Given the description of an element on the screen output the (x, y) to click on. 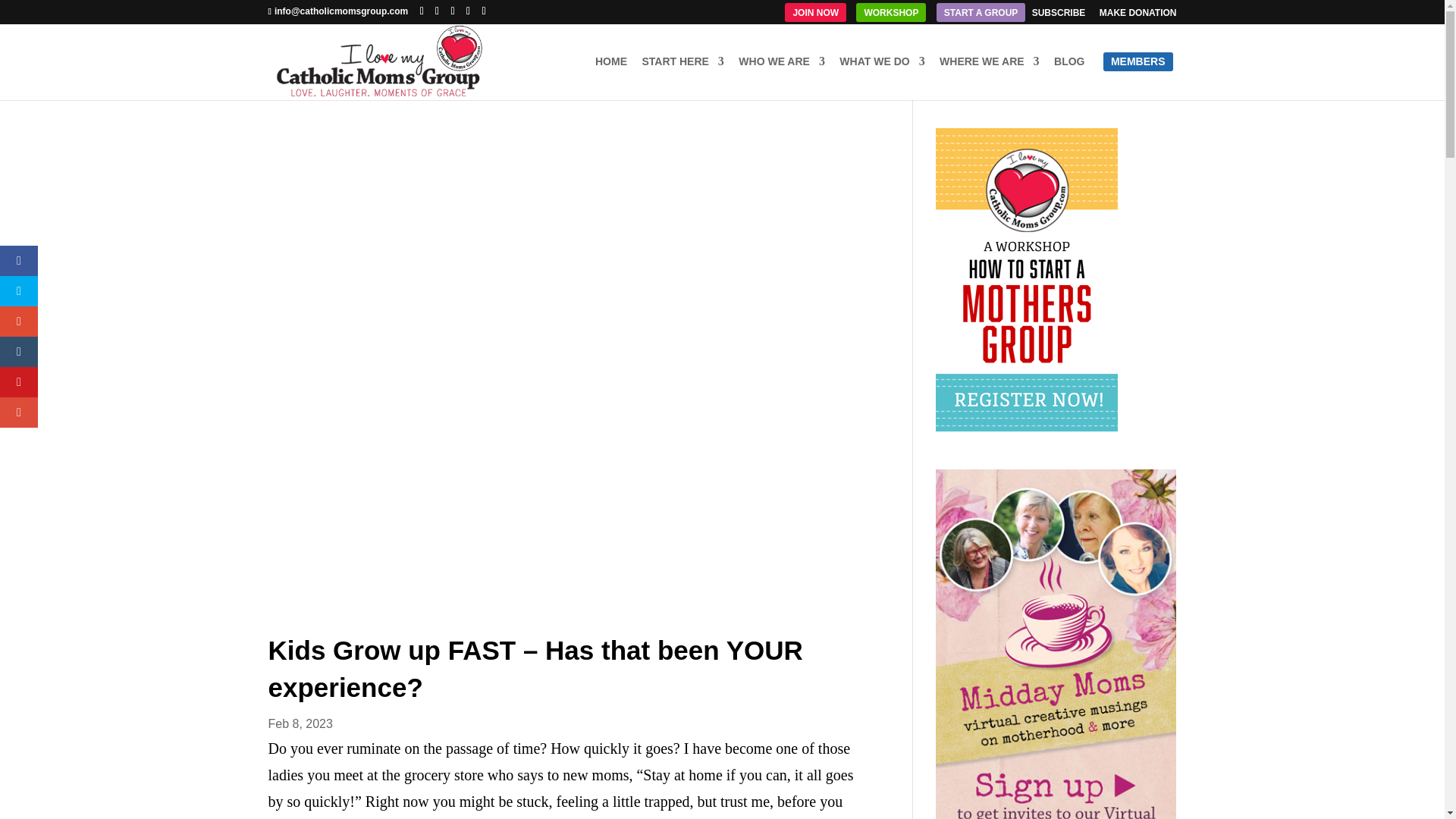
SUBSCRIBE (1059, 16)
WHO WE ARE (781, 77)
WHERE WE ARE (989, 77)
MEMBERS (1138, 77)
START HERE (682, 77)
WHAT WE DO (882, 77)
MAKE DONATION (1137, 16)
START A GROUP (980, 16)
WORKSHOP (890, 16)
JOIN NOW (815, 16)
